Given the description of an element on the screen output the (x, y) to click on. 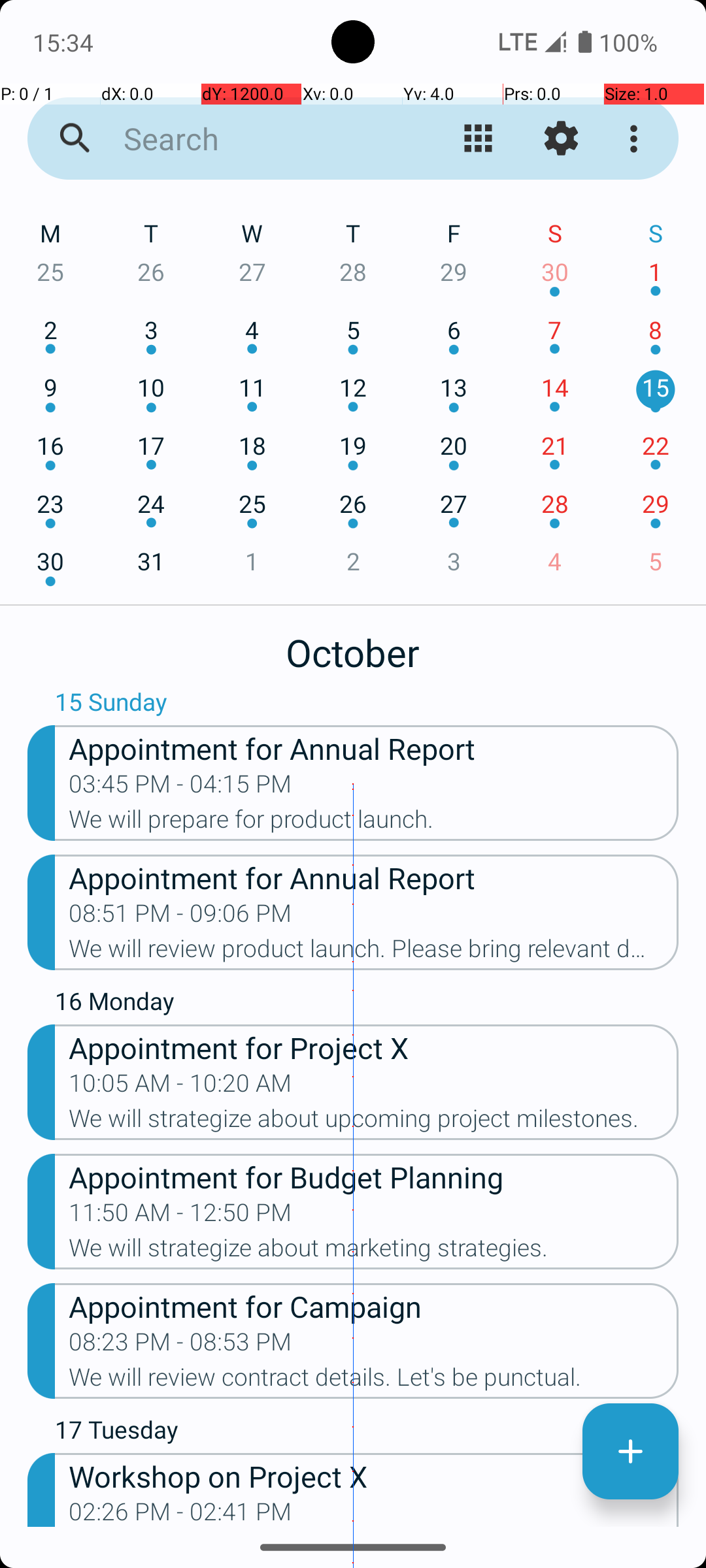
03:45 PM - 04:15 PM Element type: android.widget.TextView (179, 787)
We will prepare for product launch. Element type: android.widget.TextView (373, 822)
08:51 PM - 09:06 PM Element type: android.widget.TextView (179, 916)
We will review product launch. Please bring relevant documents. Element type: android.widget.TextView (373, 952)
10:05 AM - 10:20 AM Element type: android.widget.TextView (179, 1086)
We will strategize about upcoming project milestones. Element type: android.widget.TextView (373, 1122)
11:50 AM - 12:50 PM Element type: android.widget.TextView (179, 1216)
We will strategize about marketing strategies. Element type: android.widget.TextView (373, 1251)
08:23 PM - 08:53 PM Element type: android.widget.TextView (179, 1345)
We will review contract details. Let's be punctual. Element type: android.widget.TextView (373, 1380)
02:26 PM - 02:41 PM Element type: android.widget.TextView (179, 1512)
